Given the description of an element on the screen output the (x, y) to click on. 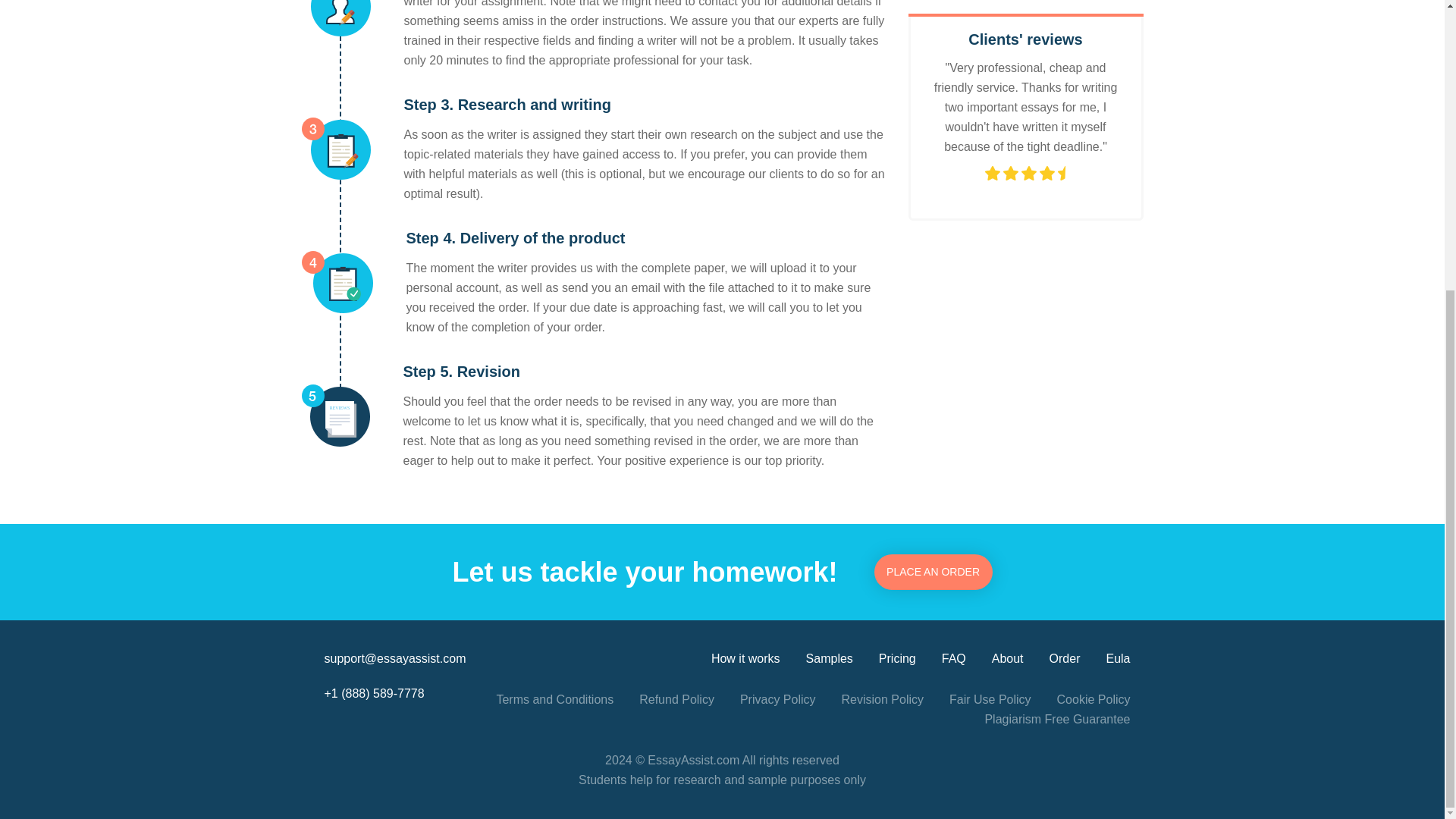
About (1007, 659)
Plagiarism Free Guarantee (1056, 719)
PLACE AN ORDER (933, 571)
FAQ (954, 659)
Revision Policy (882, 700)
How it works (745, 659)
Samples (829, 659)
Privacy Policy (777, 700)
Eula (1117, 659)
Cookie Policy (1094, 700)
Order (1064, 659)
Pricing (897, 659)
Terms and Conditions (554, 700)
Fair Use Policy (989, 700)
Refund Policy (676, 700)
